Given the description of an element on the screen output the (x, y) to click on. 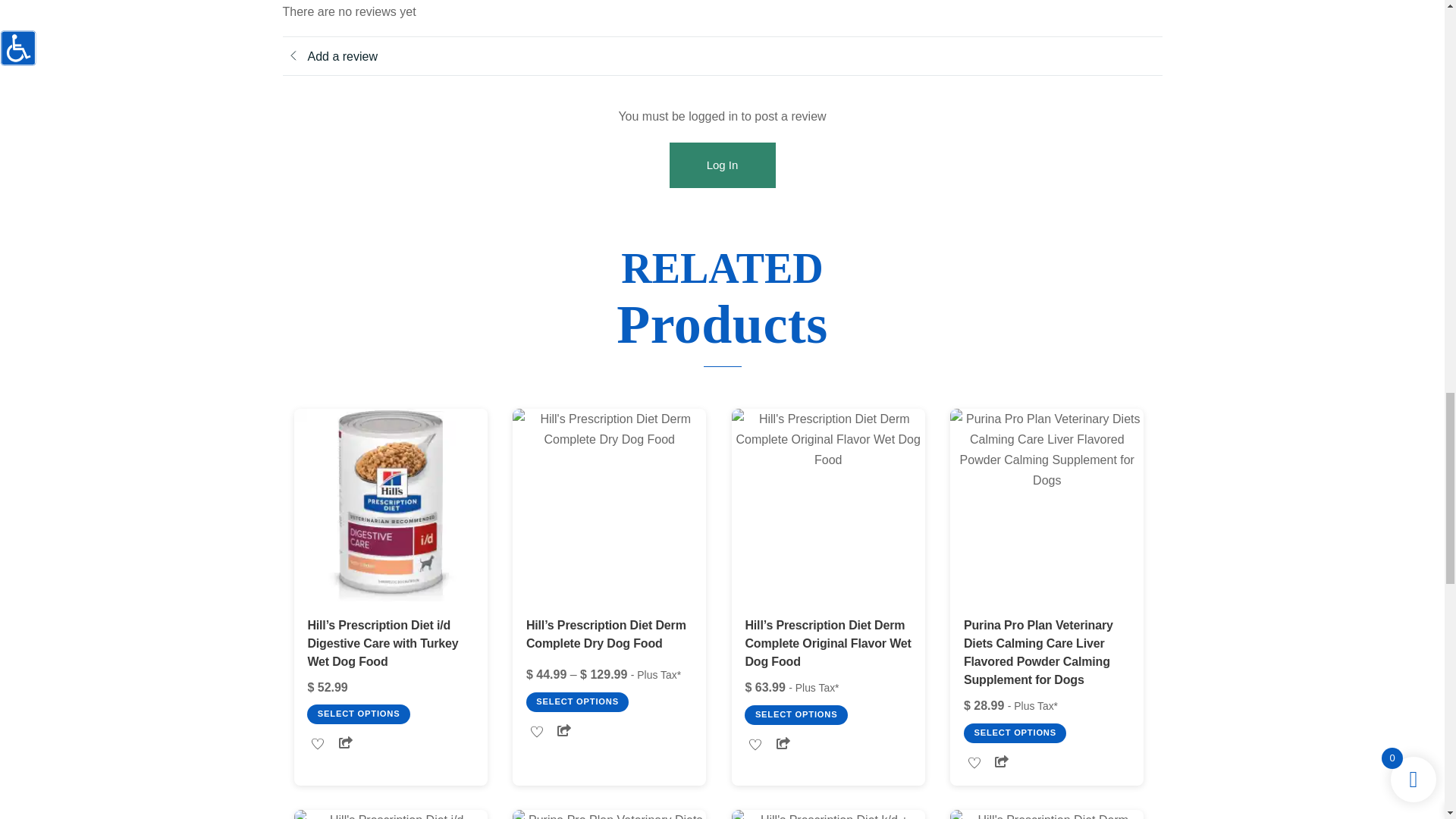
SELECT OPTIONS (358, 714)
Log In (721, 165)
Hill's Prescription Diet Derm Complete Dry Dog Food (609, 504)
